Given the description of an element on the screen output the (x, y) to click on. 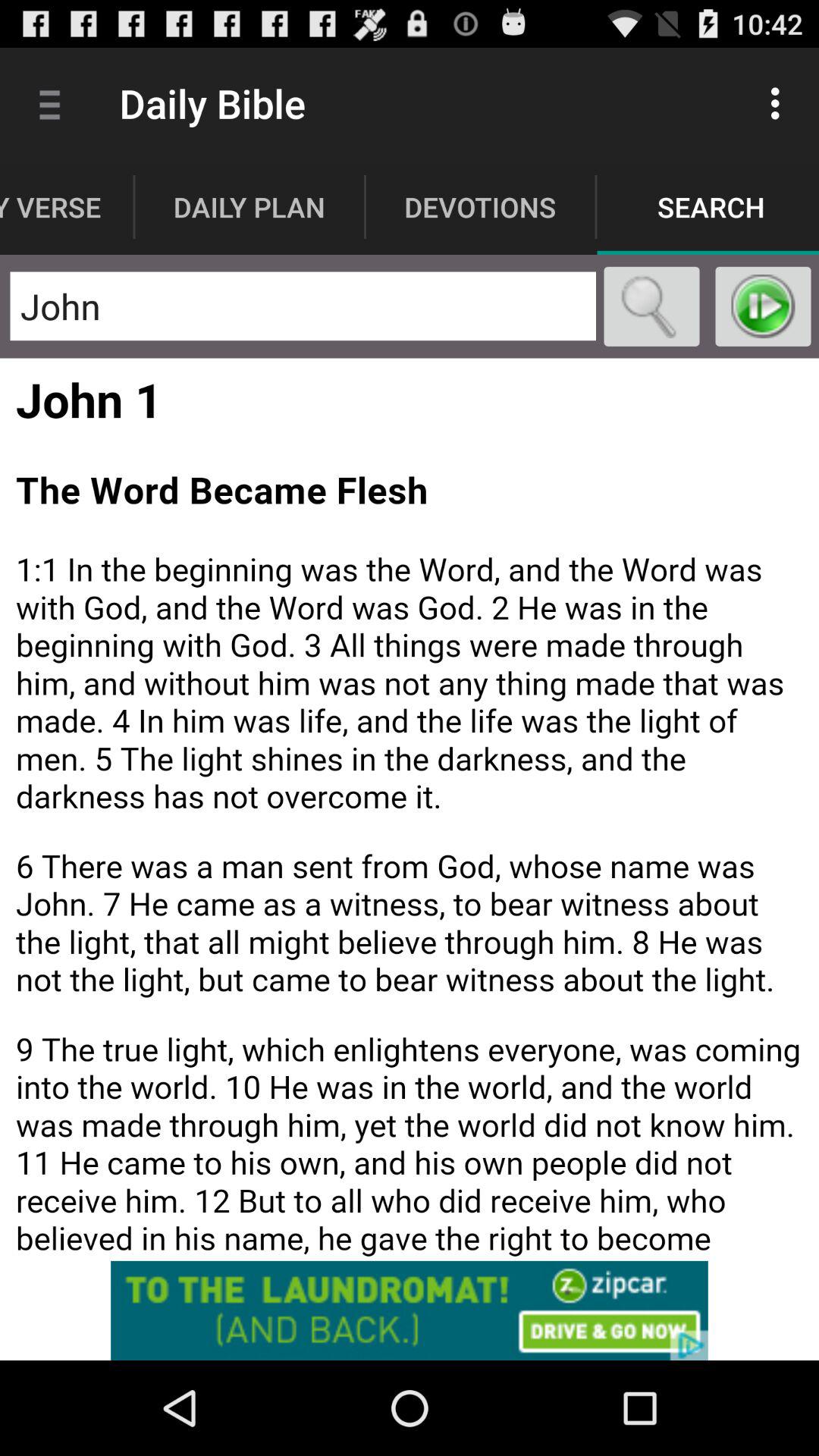
find in page (651, 306)
